Given the description of an element on the screen output the (x, y) to click on. 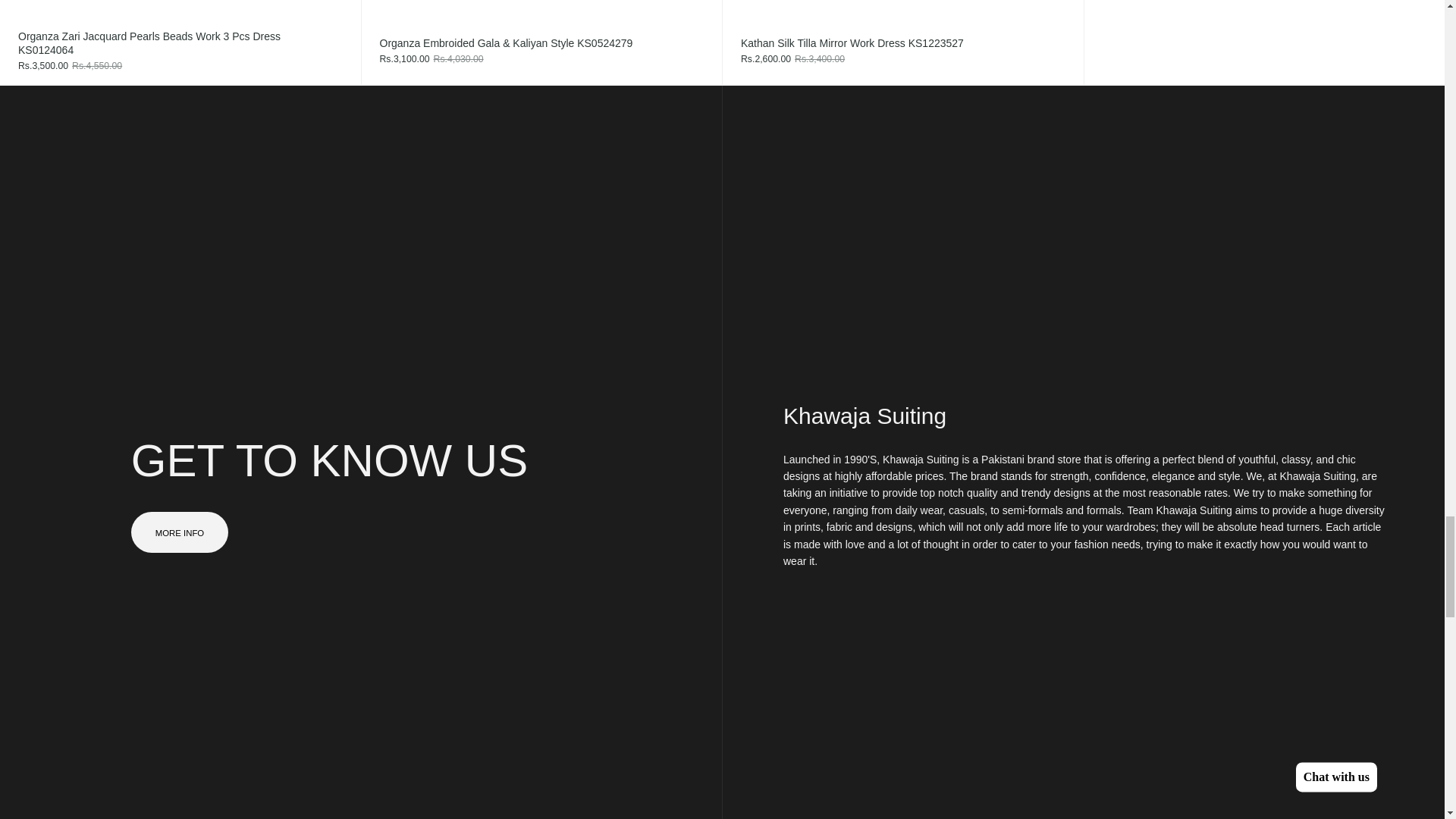
More info (179, 531)
